Given the description of an element on the screen output the (x, y) to click on. 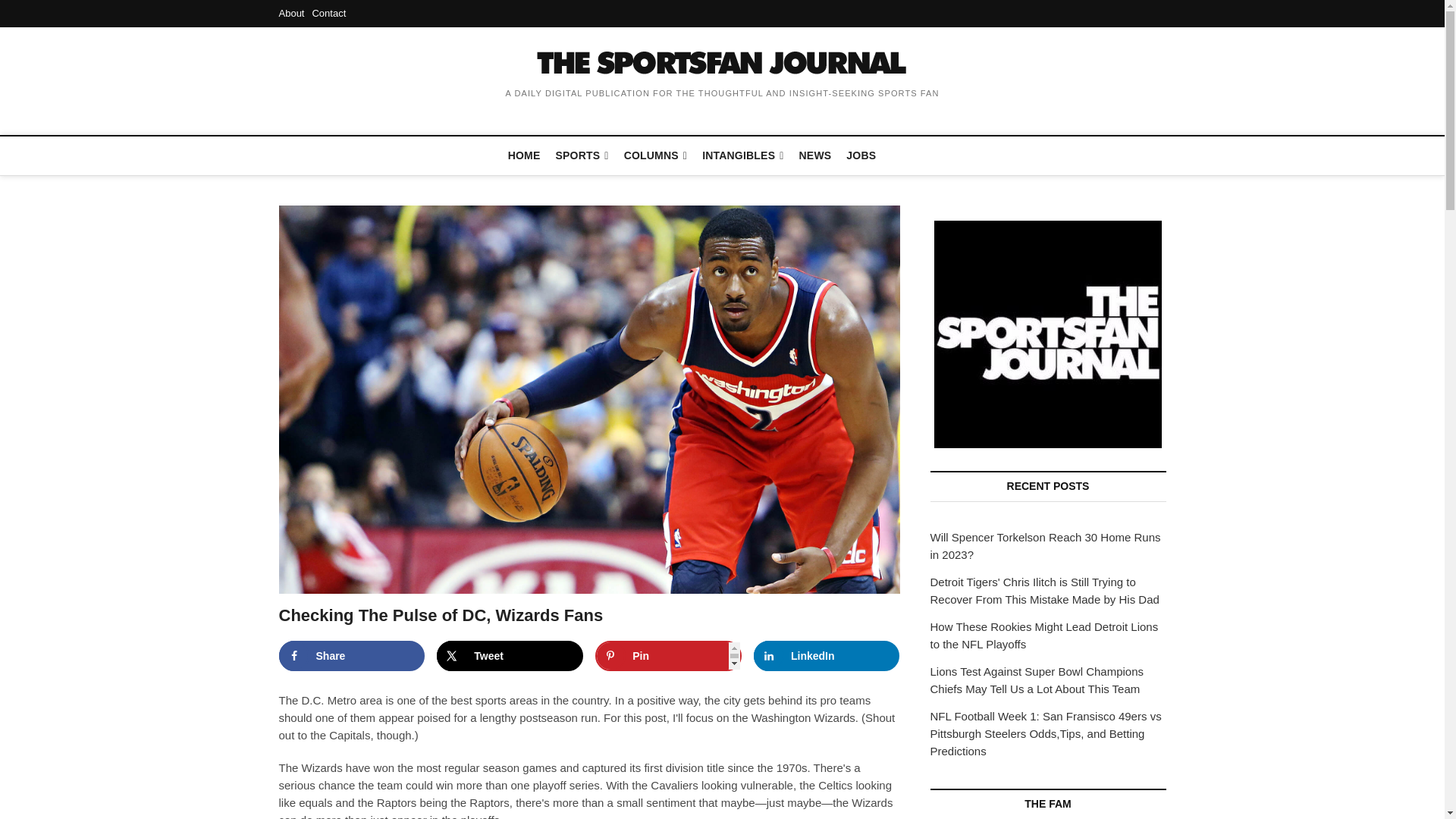
Tweet (509, 655)
About (291, 12)
NEWS (816, 155)
SPORTS (581, 155)
Contact (328, 12)
COLUMNS (655, 155)
INTANGIBLES (742, 155)
JOBS (860, 155)
Save to Pinterest (668, 655)
HOME (524, 155)
